Given the description of an element on the screen output the (x, y) to click on. 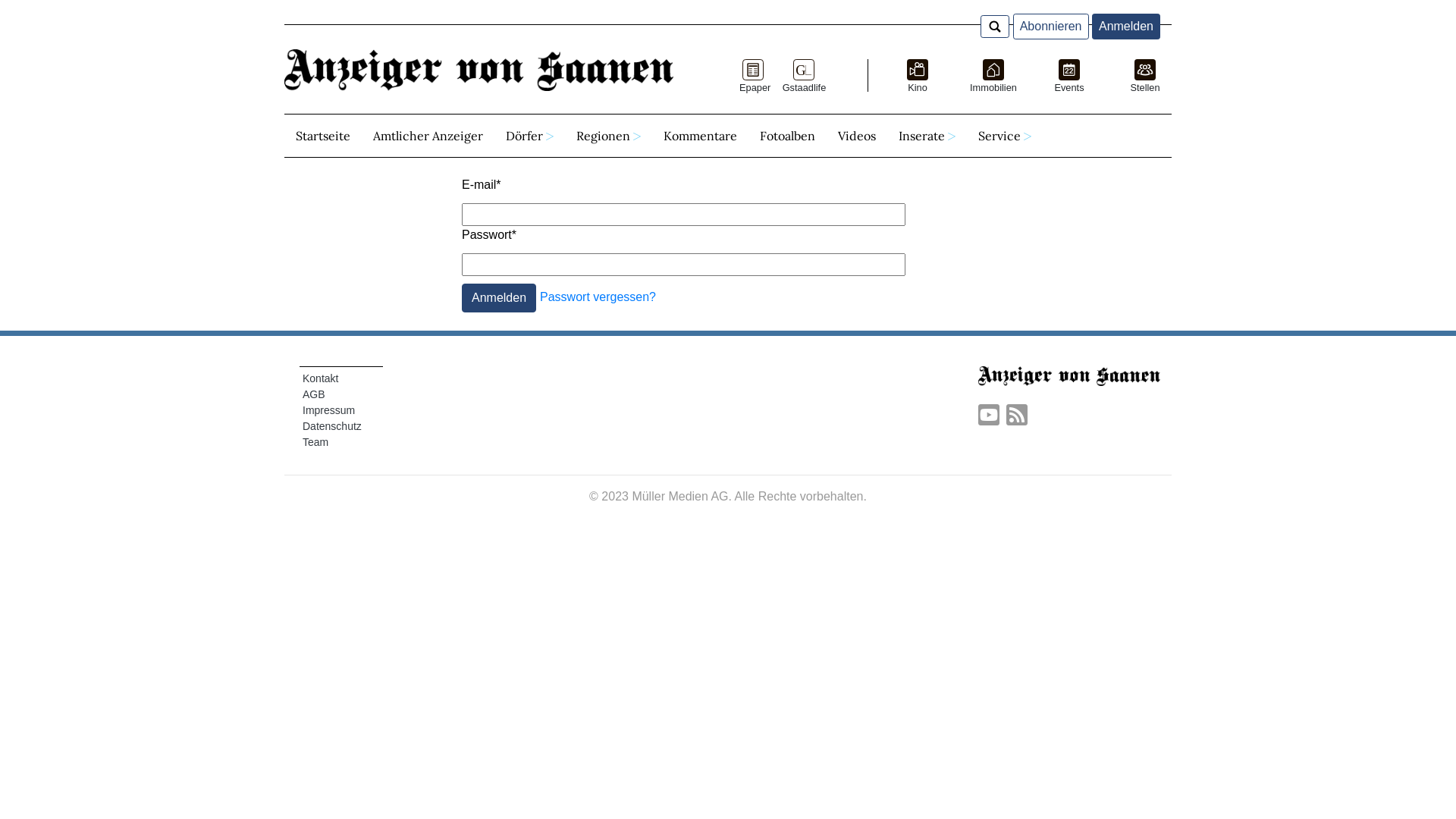
Passwort vergessen? Element type: text (597, 296)
Inserate Element type: text (926, 135)
Immobilien Element type: text (992, 78)
Fotoalben Element type: text (787, 135)
Datenschutz Element type: text (331, 426)
Regionen Element type: text (608, 135)
Anmelden Element type: text (498, 297)
Gstaadlife Element type: text (804, 78)
Service Element type: text (1004, 135)
Amtlicher Anzeiger Element type: text (427, 135)
Epaper Element type: text (753, 78)
AGB Element type: text (313, 394)
Videos Element type: text (856, 135)
Kommentare Element type: text (700, 135)
Events Element type: text (1068, 78)
Abonnieren Element type: text (1050, 26)
Startseite Element type: text (322, 135)
Team Element type: text (315, 442)
Stellen Element type: text (1144, 78)
Kino Element type: text (917, 78)
Impressum Element type: text (328, 410)
Anmelden Element type: text (1126, 26)
Kontakt Element type: text (320, 378)
